Given the description of an element on the screen output the (x, y) to click on. 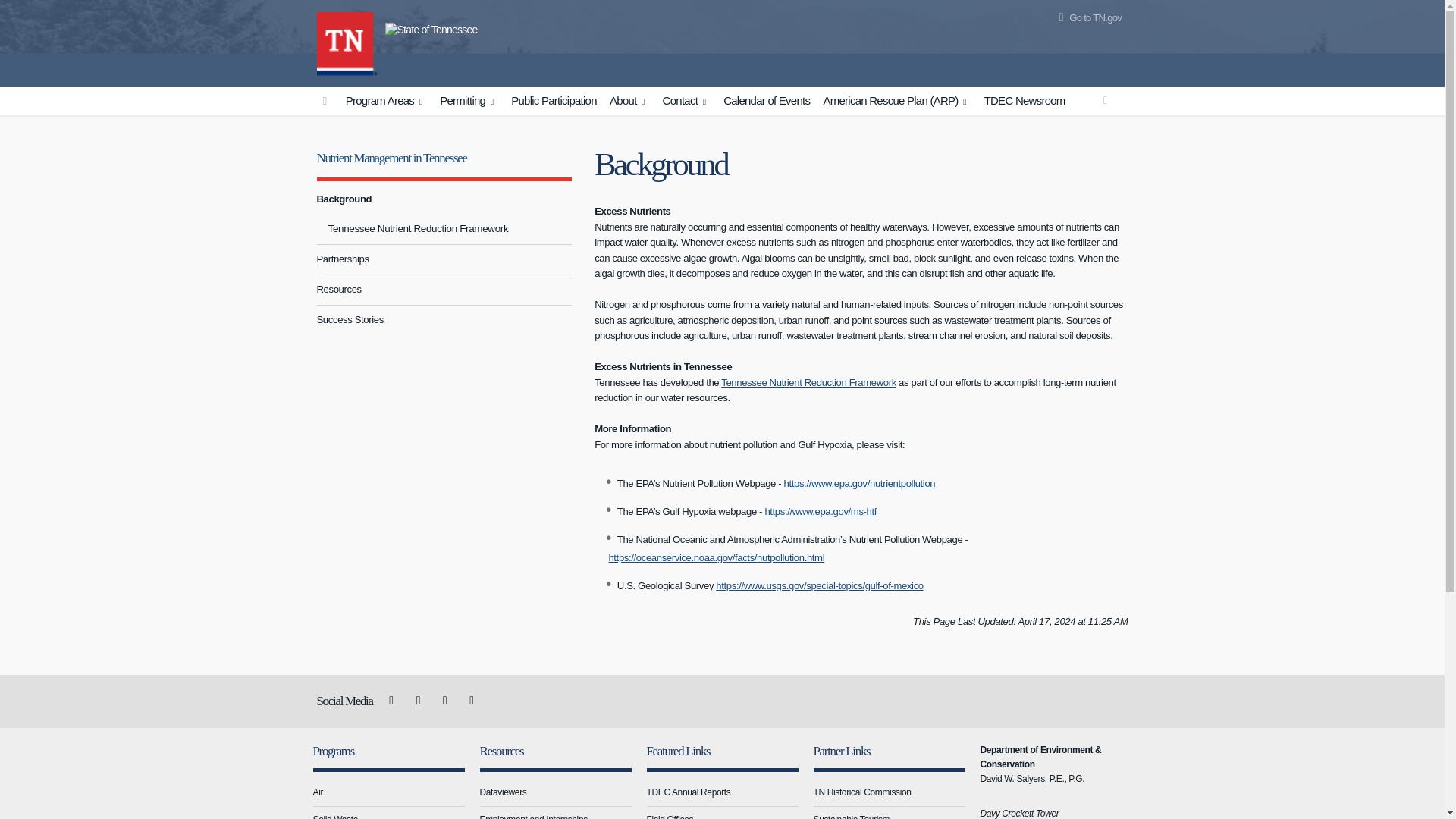
Home (347, 41)
Go to TN.gov (1086, 18)
Public Participation (553, 100)
Program Areas (386, 101)
Permitting (468, 101)
Link to USGS (819, 585)
About (628, 101)
